Given the description of an element on the screen output the (x, y) to click on. 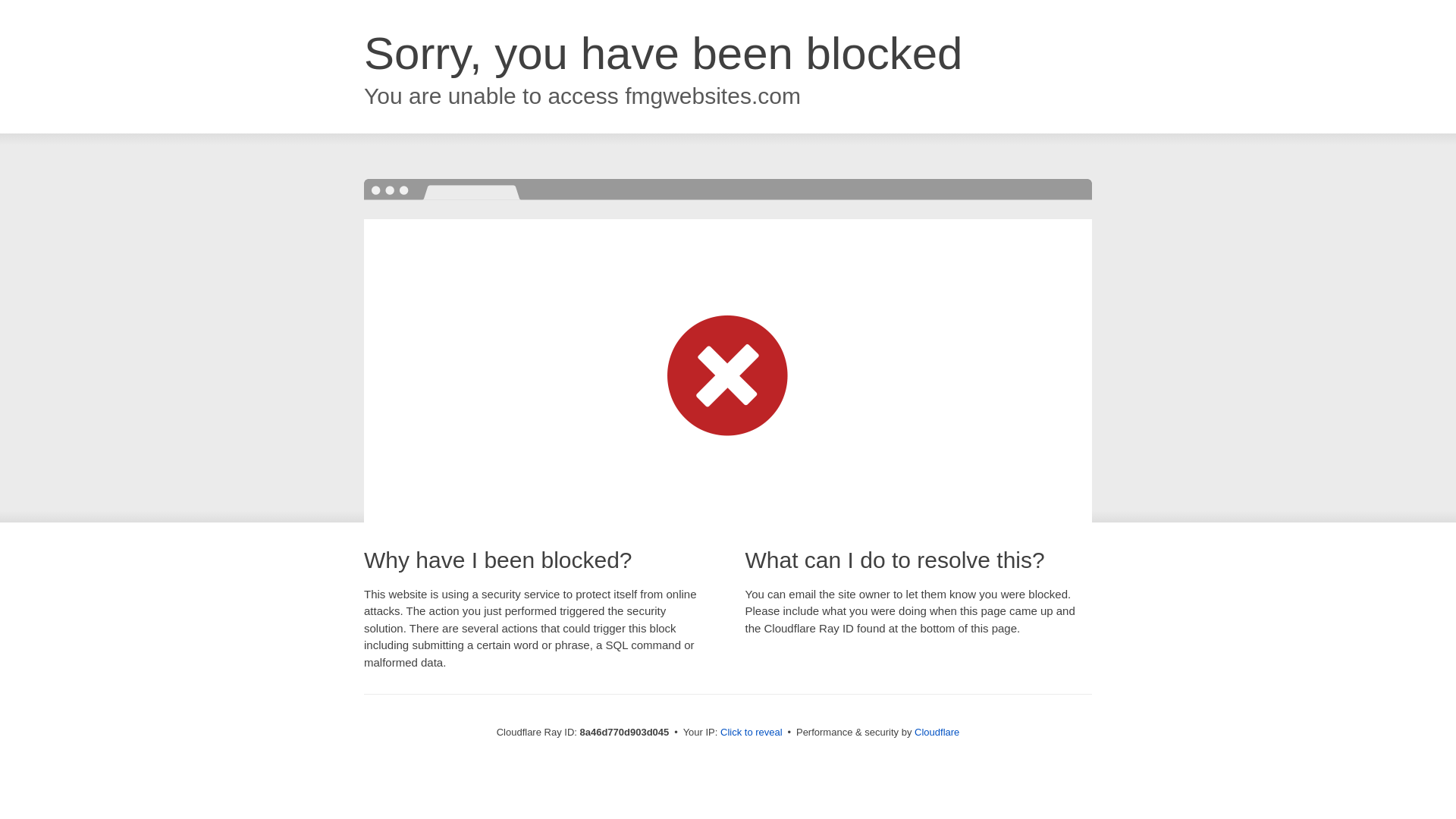
Cloudflare (936, 731)
Click to reveal (751, 732)
